Given the description of an element on the screen output the (x, y) to click on. 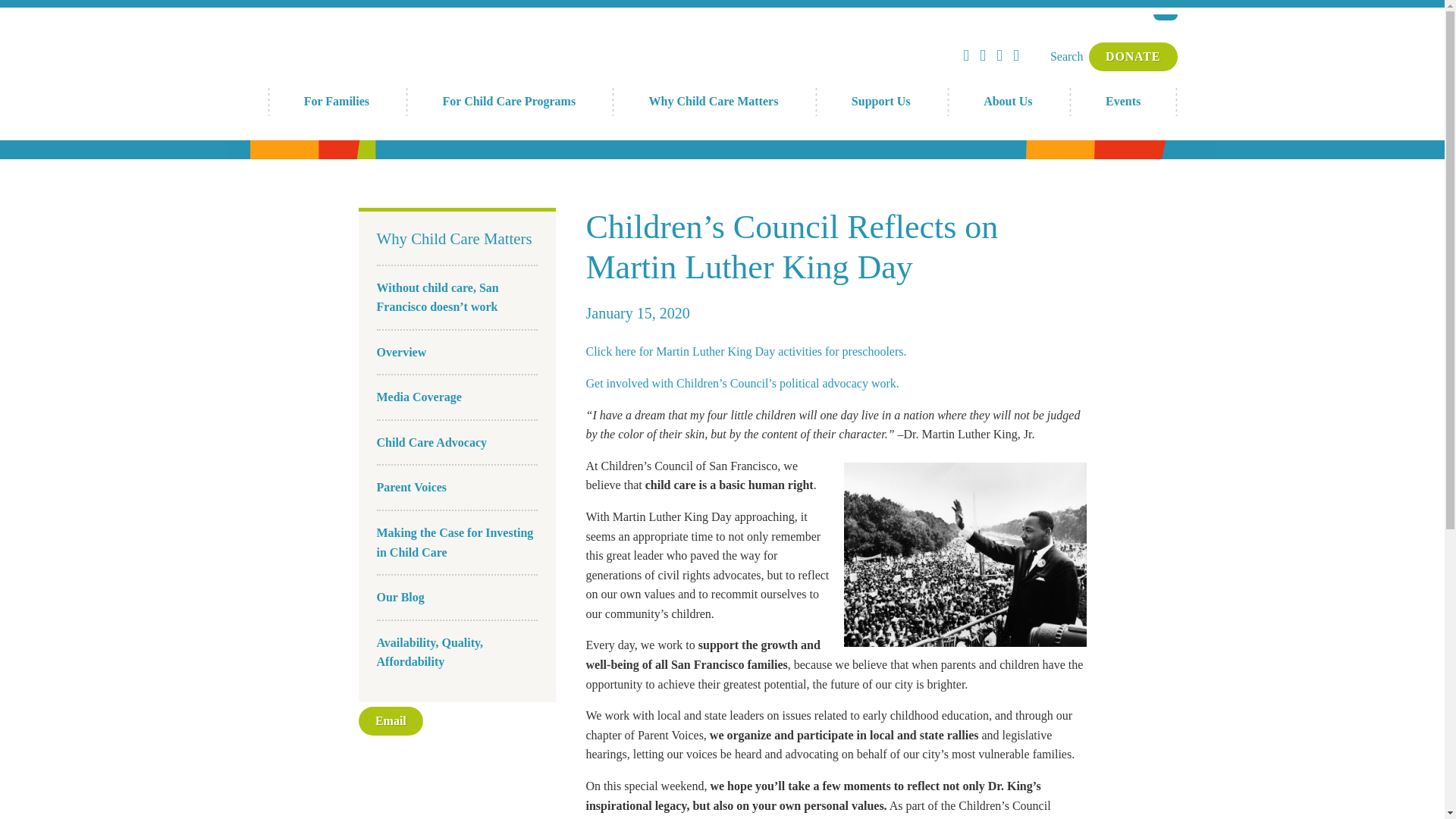
For Child Care Programs (508, 101)
DONATE (1133, 56)
Email (390, 720)
Search (1066, 56)
For Families (336, 101)
